Given the description of an element on the screen output the (x, y) to click on. 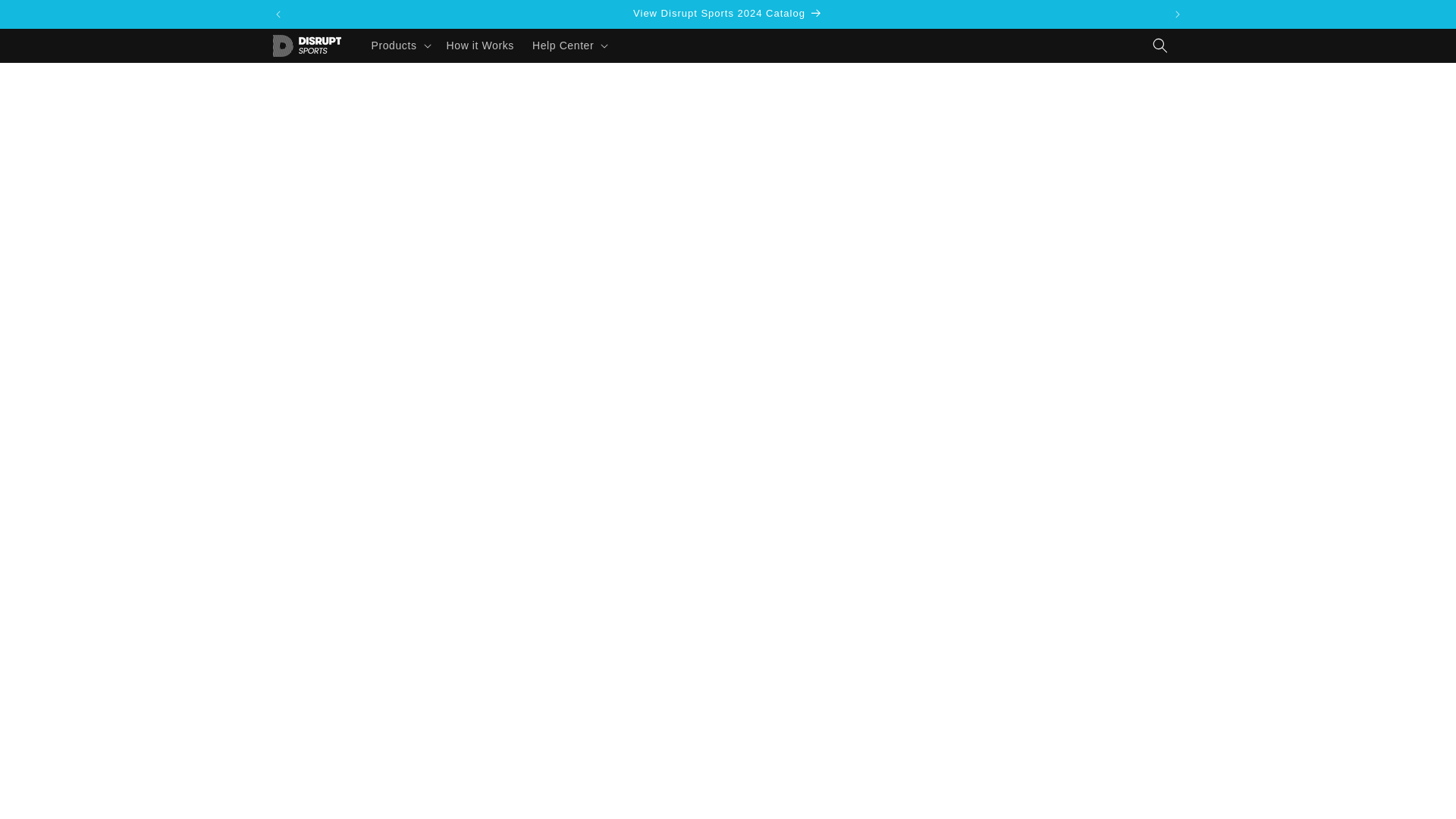
View Disrupt Sports 2024 Catalog (727, 14)
Skip to content (45, 17)
